Given the description of an element on the screen output the (x, y) to click on. 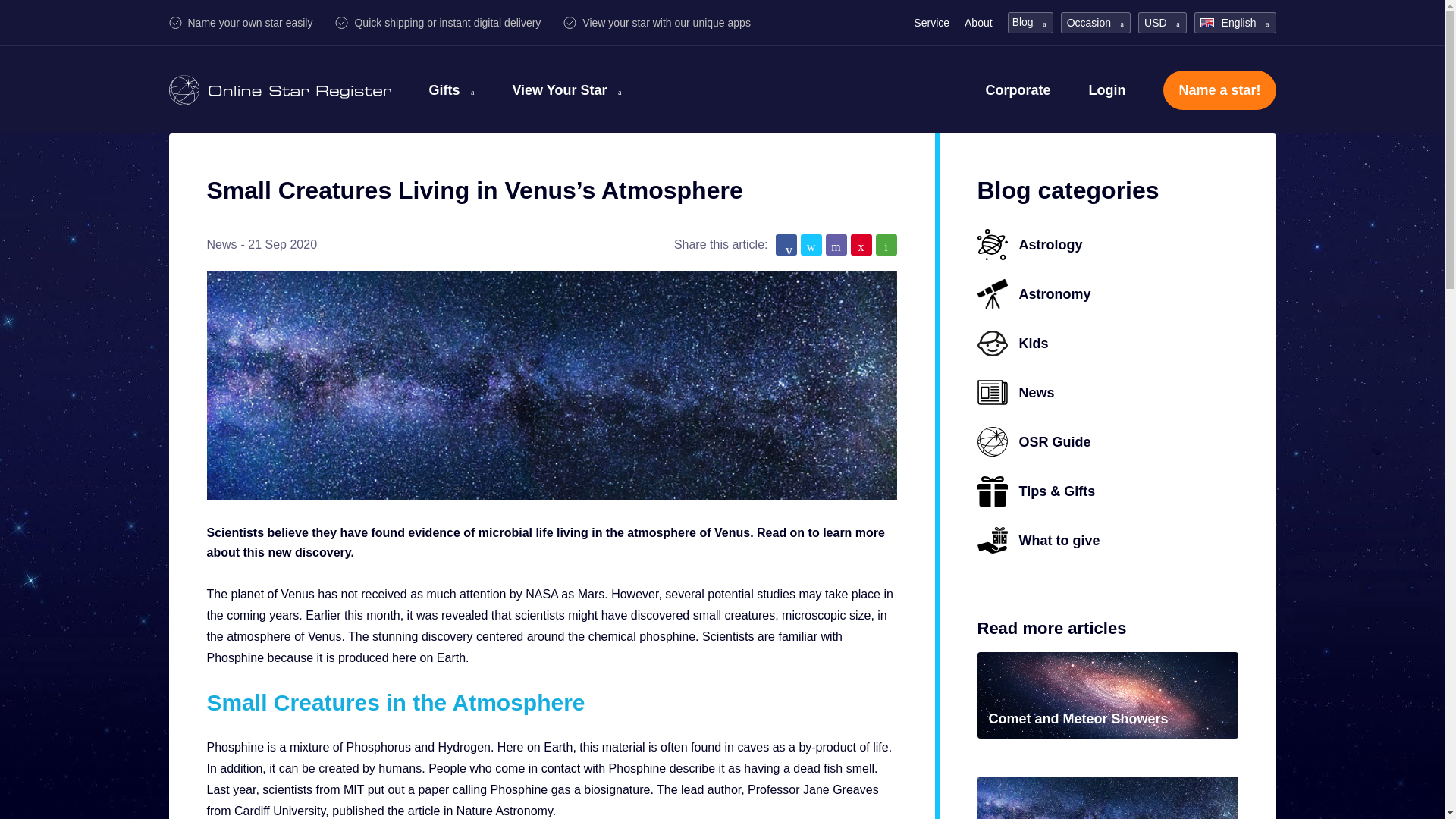
Service (931, 22)
Blog (1029, 21)
Occasion (1095, 22)
USD (1162, 22)
About (977, 22)
